Given the description of an element on the screen output the (x, y) to click on. 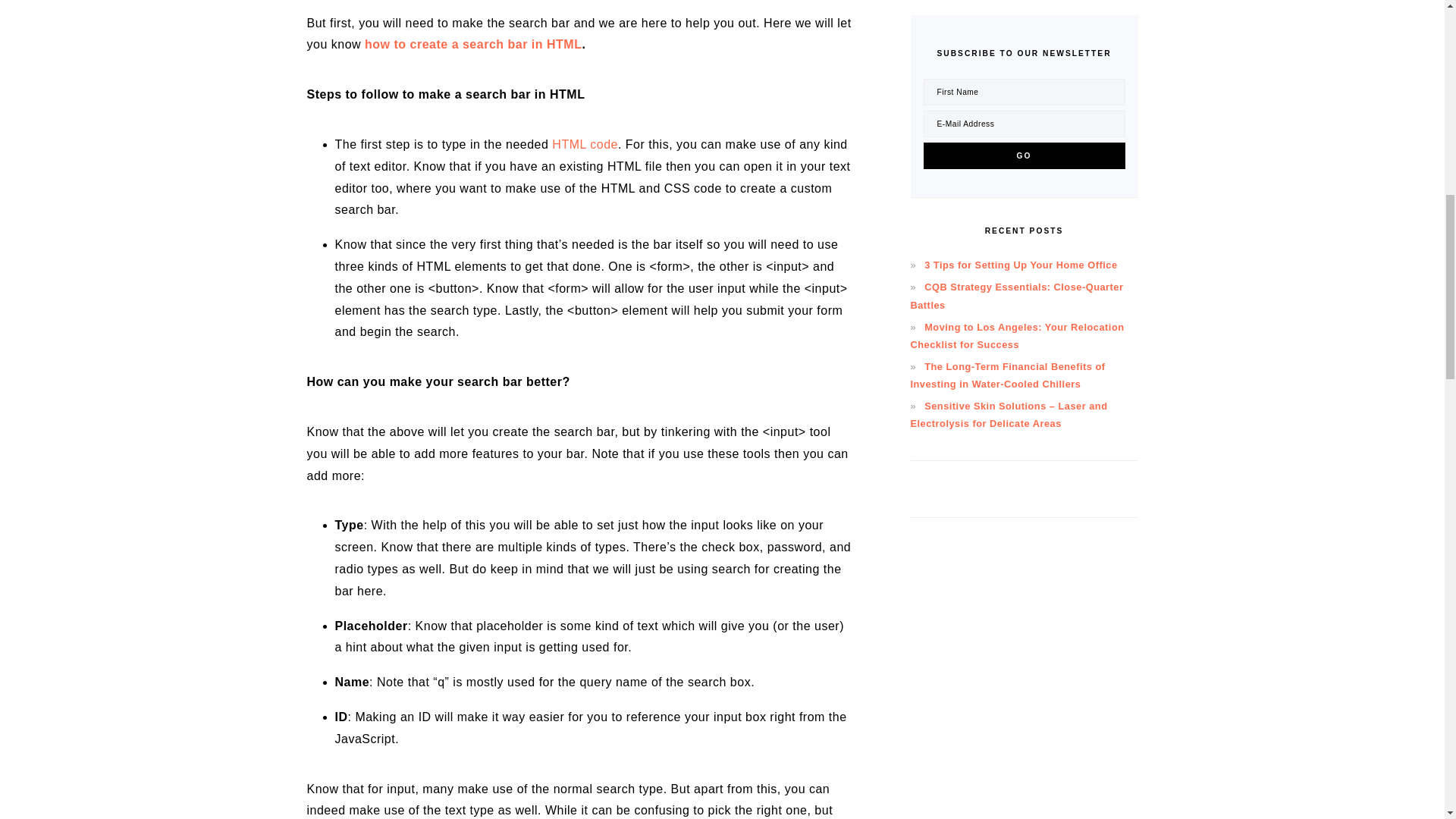
HTML code (584, 144)
Go (1024, 155)
how to create a search bar in HTML (472, 43)
